Given the description of an element on the screen output the (x, y) to click on. 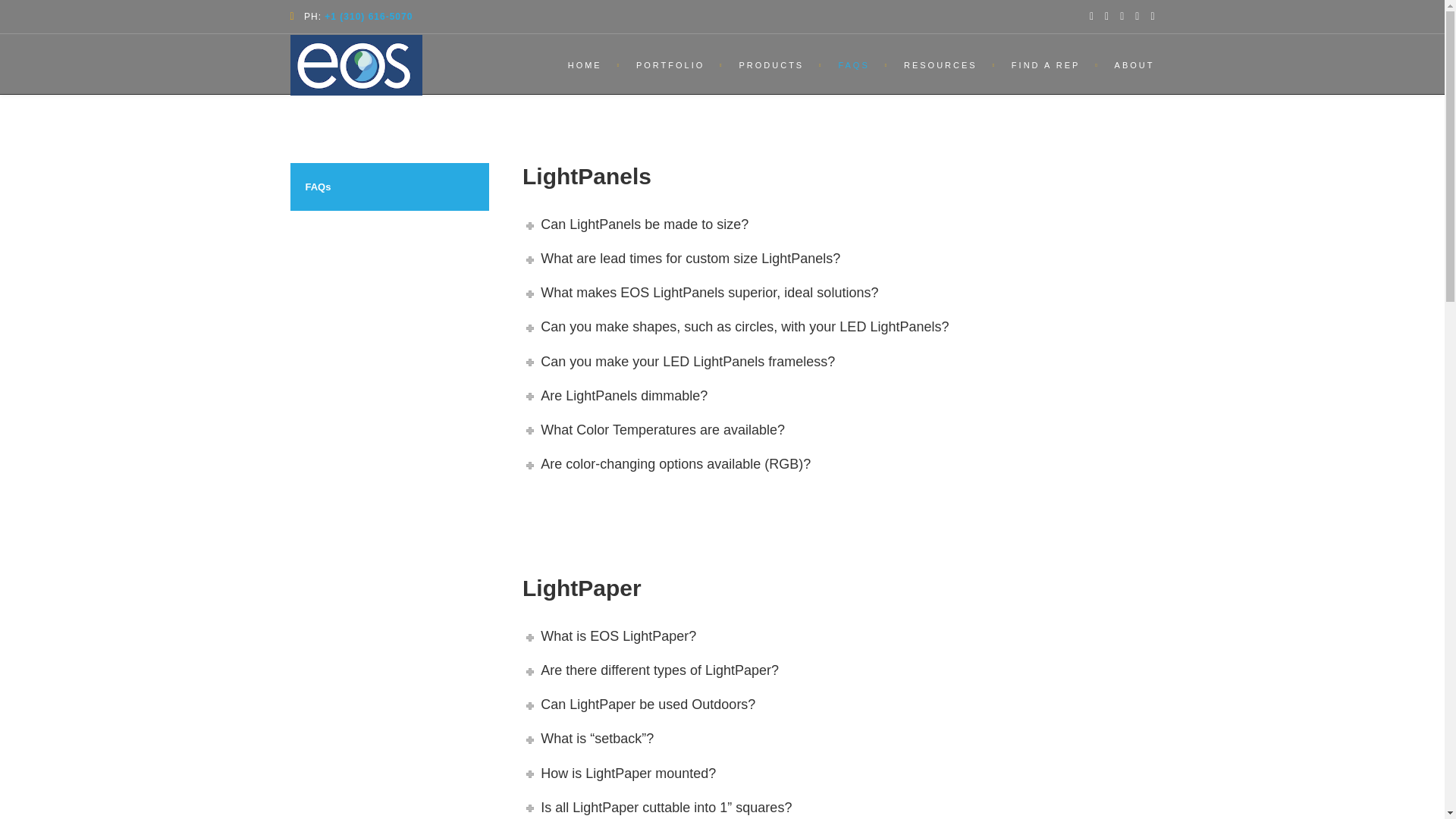
HOME (587, 64)
FAQs (389, 186)
Portfolio (672, 64)
PORTFOLIO (672, 64)
About (1126, 64)
FIND A REP (1047, 64)
Resources (941, 64)
Home (587, 64)
PRODUCTS (772, 64)
RESOURCES (941, 64)
FAQs (855, 64)
FAQS (855, 64)
Products (772, 64)
ABOUT (1126, 64)
Find a Rep (1047, 64)
